Given the description of an element on the screen output the (x, y) to click on. 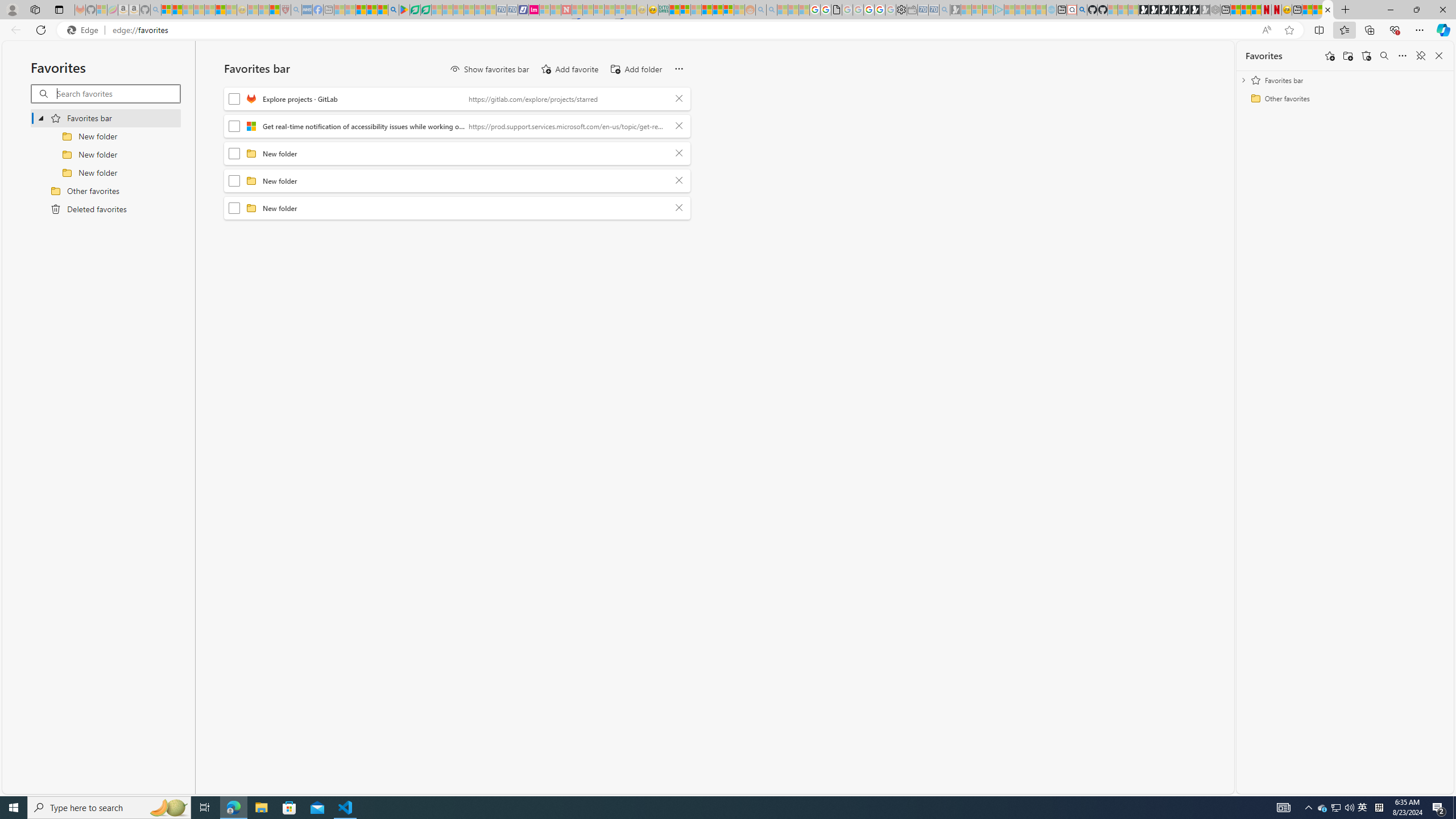
FolderNew folder (457, 207)
Microsoft account | Privacy - Sleeping (987, 9)
Search favorites (117, 93)
New tab - Sleeping (328, 9)
Jobs - lastminute.com Investor Portal (534, 9)
Address and search bar (683, 29)
Play Free Online Games | Games from Microsoft Start (1143, 9)
